Given the description of an element on the screen output the (x, y) to click on. 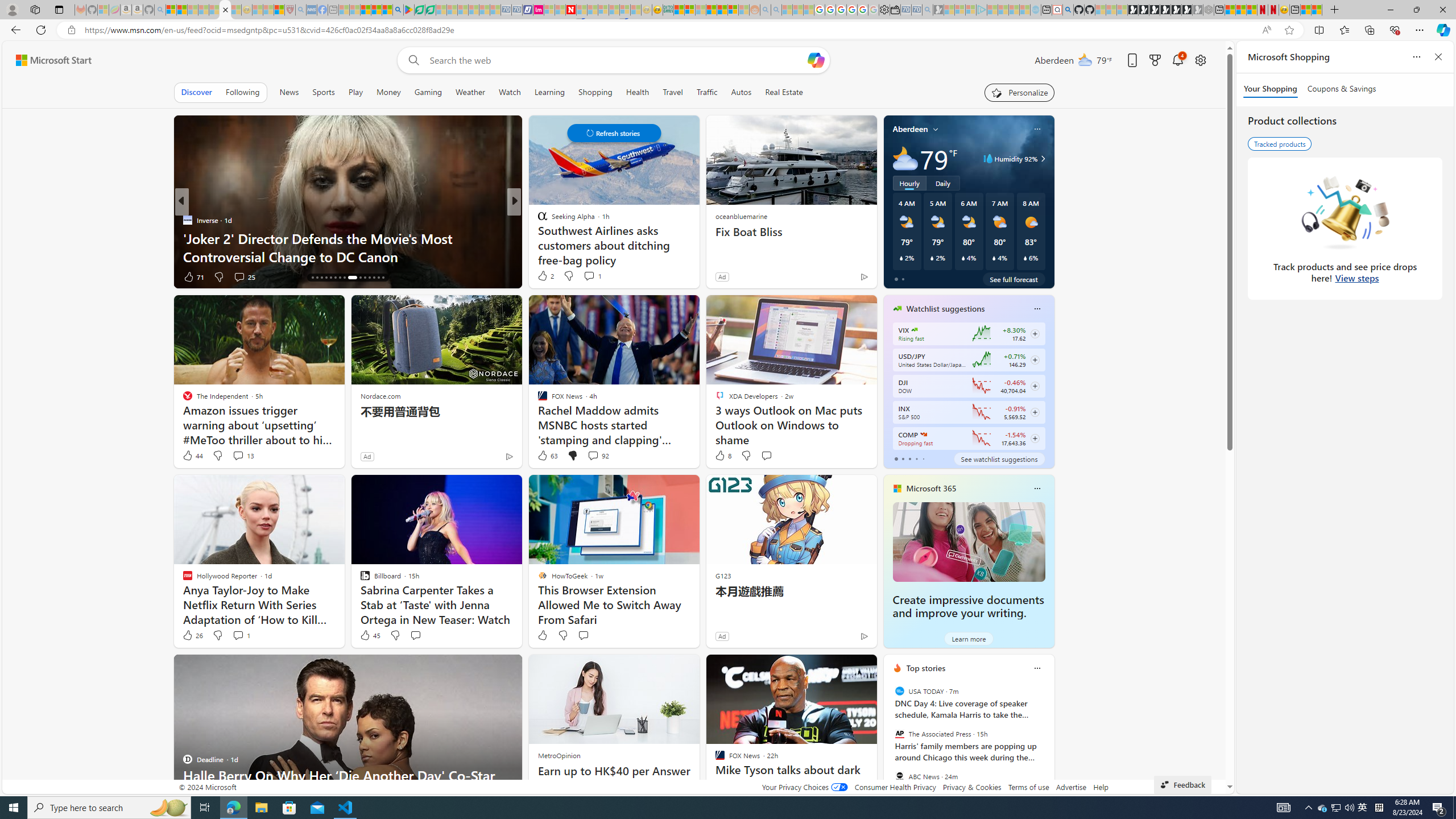
Traffic (706, 92)
45 Like (368, 634)
Microsoft 365 (930, 488)
Hide this story (841, 668)
View comments 1 Comment (240, 634)
Sports (323, 92)
Create impressive documents and improve your writing. (968, 541)
